Given the description of an element on the screen output the (x, y) to click on. 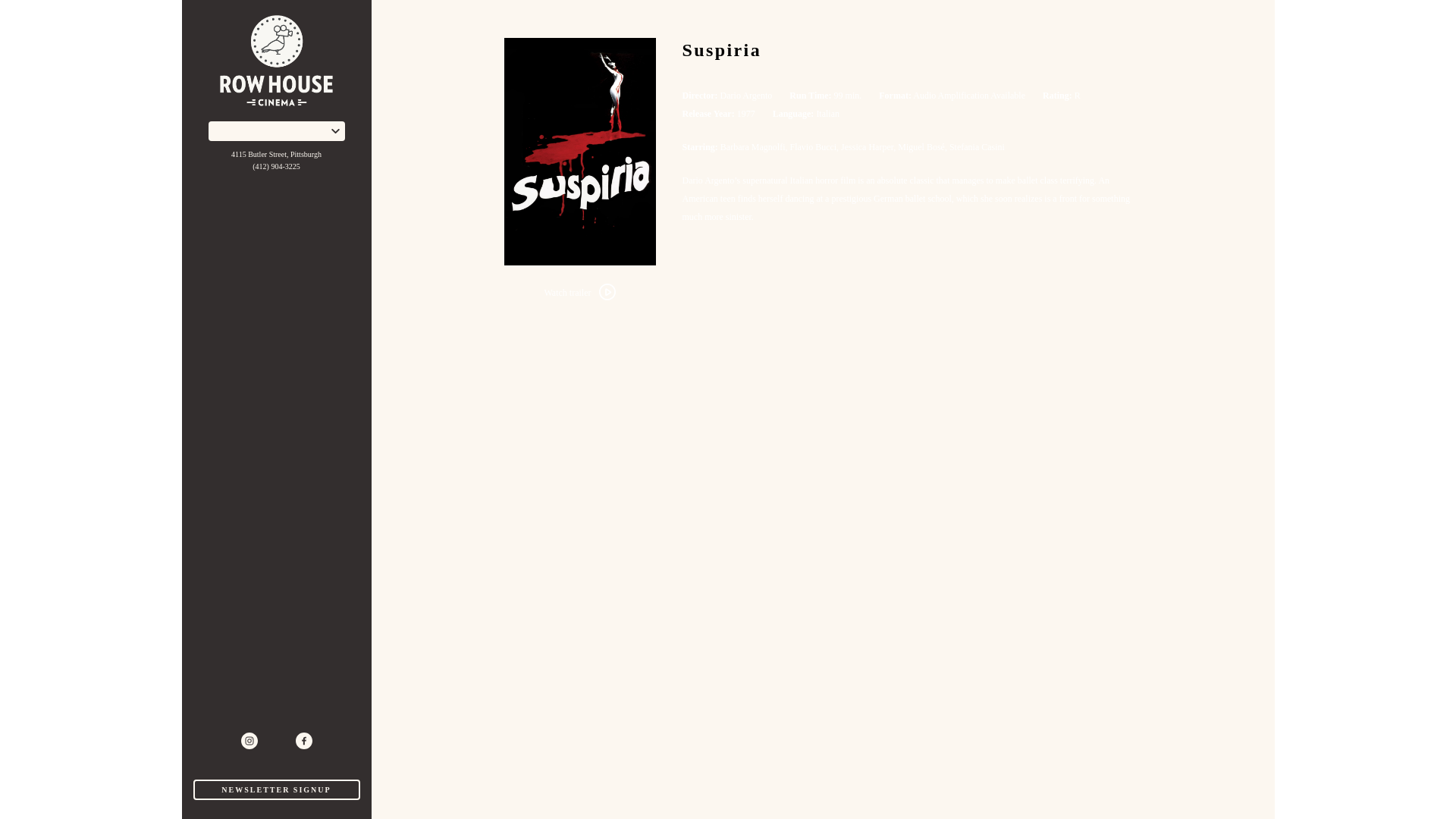
4115 Butler Street, Pittsburgh (276, 154)
Watch trailer (579, 292)
instagram (249, 740)
twitter (276, 740)
NEWSLETTER SIGNUP (275, 789)
facebook (304, 740)
